Given the description of an element on the screen output the (x, y) to click on. 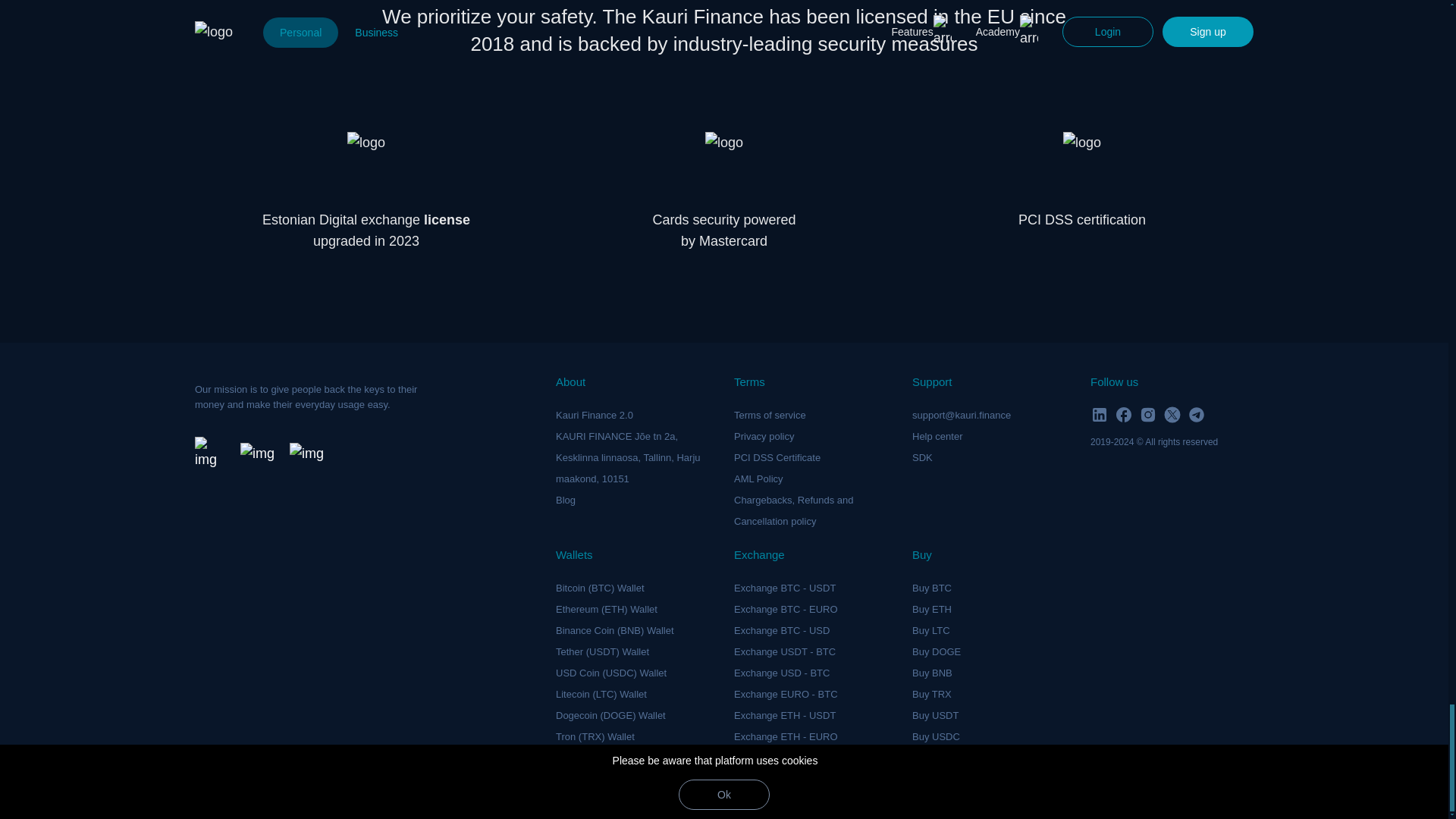
Privacy policy (763, 436)
Chargebacks, Refunds and Cancellation policy (793, 510)
SDK (922, 457)
Blog (565, 500)
PCI DSS Certificate (777, 457)
AML Policy (758, 478)
Help center (937, 436)
license (446, 219)
Kauri Finance 2.0 (594, 414)
Terms of service (769, 414)
